Given the description of an element on the screen output the (x, y) to click on. 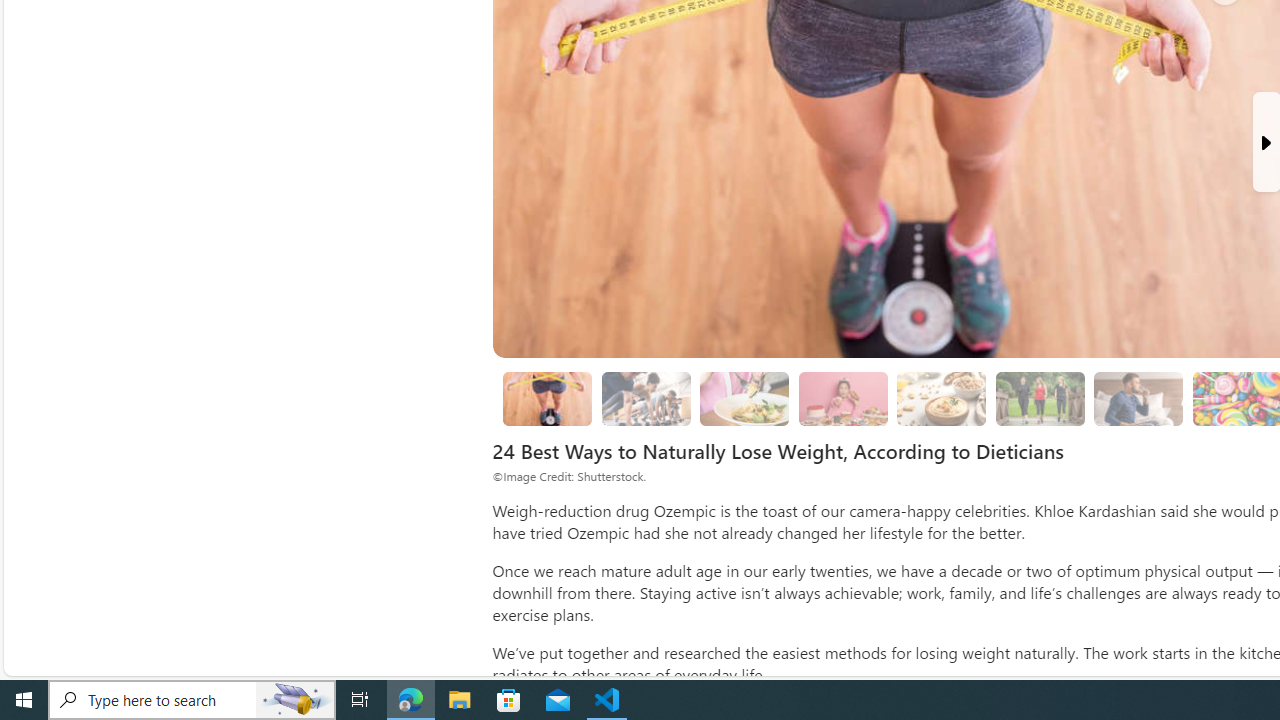
Class: progress (1138, 394)
Cherries Could Help You Drop a Few Pounds (547, 399)
2. Reduce Your Plate Size (744, 399)
Cherries Help You Recover From Workouts (646, 398)
4. Soluble Fiber Is Your Friend (941, 398)
3. Portion Control (842, 399)
2. Reduce Your Plate Size (743, 398)
Cherries Could Help You Drop a Few Pounds (546, 398)
4. Soluble Fiber Is Your Friend (941, 399)
6. Drink Water Before Meals (1139, 399)
6. Drink Water Before Meals (1138, 398)
Cherries Help You Recover From Workouts (646, 399)
24. Walking (1039, 398)
3. Portion Control (843, 398)
24. Walking (1039, 399)
